Given the description of an element on the screen output the (x, y) to click on. 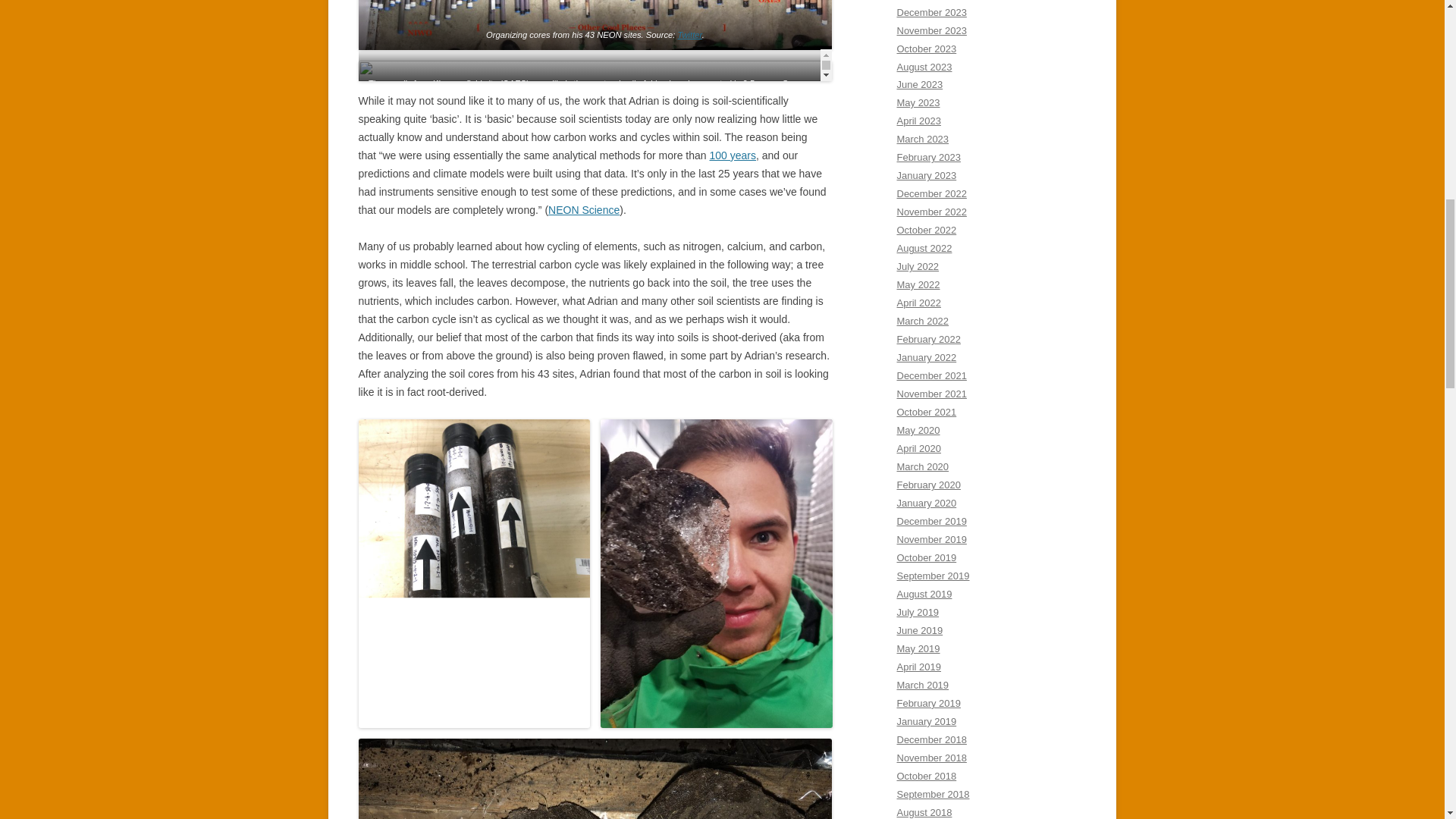
Twitter (587, 99)
100 years (732, 155)
Twitter (689, 34)
NEON Science (584, 209)
